Given the description of an element on the screen output the (x, y) to click on. 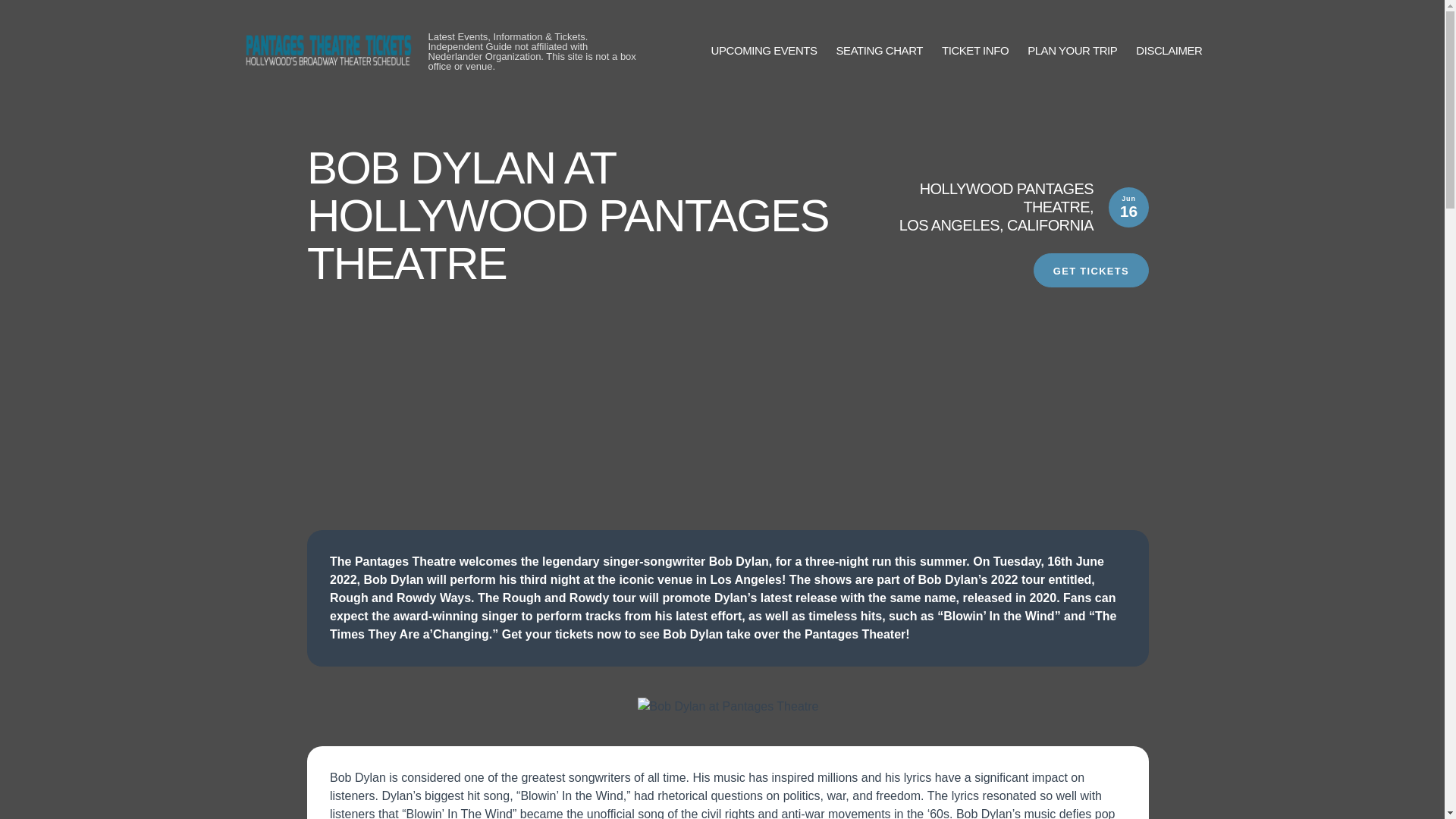
Bob Dylan at Pantages Theatre (727, 706)
GET TICKETS (1090, 270)
UPCOMING EVENTS (763, 50)
PLAN YOUR TRIP (1071, 50)
SEATING CHART (879, 50)
DISCLAIMER (1168, 50)
TICKET INFO (975, 50)
